Given the description of an element on the screen output the (x, y) to click on. 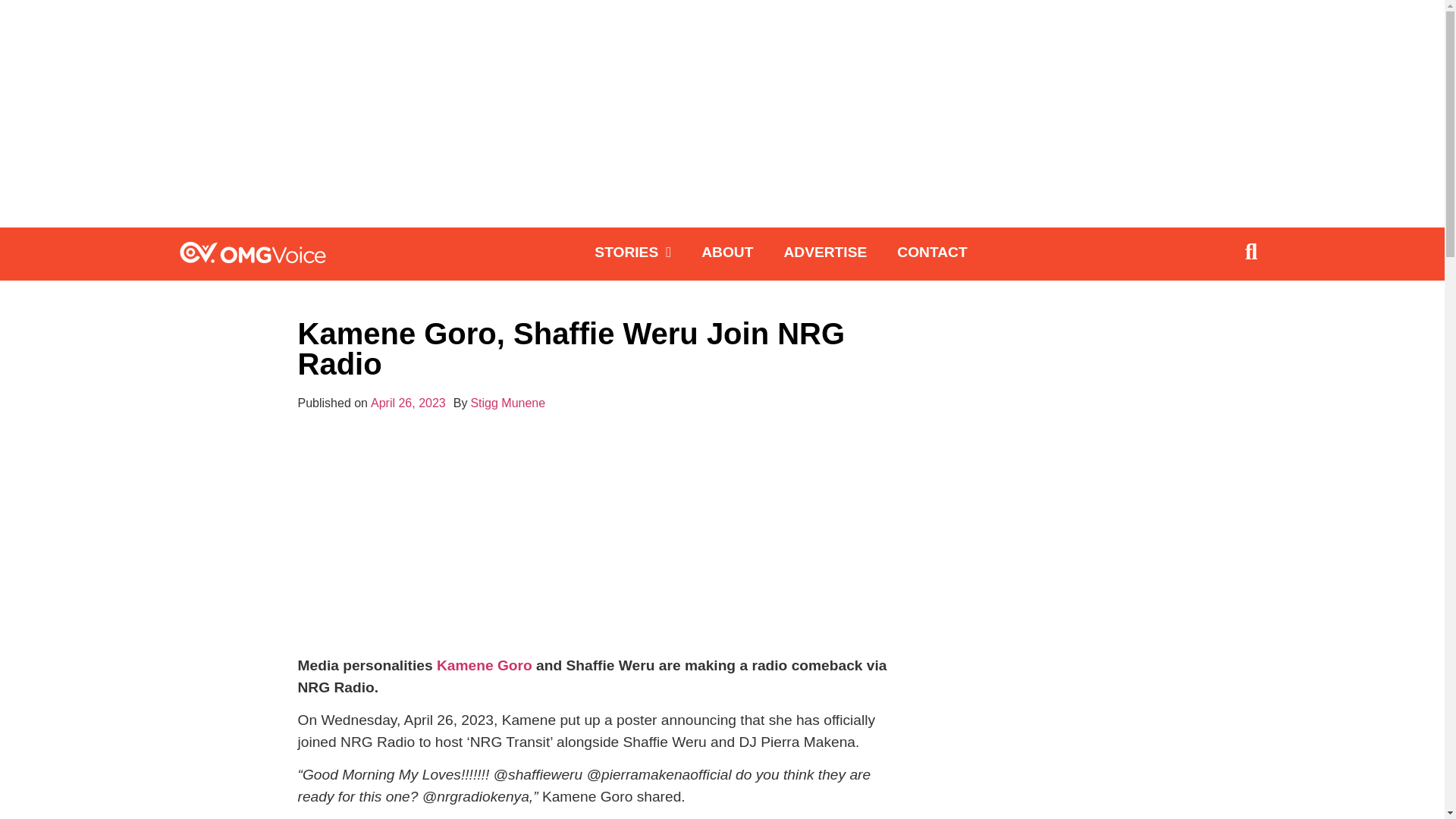
ADVERTISE (825, 252)
CONTACT (931, 252)
ABOUT (726, 252)
Kamene Goro (482, 665)
STORIES (632, 252)
Stigg Munene (507, 402)
April 26, 2023 (408, 402)
